Given the description of an element on the screen output the (x, y) to click on. 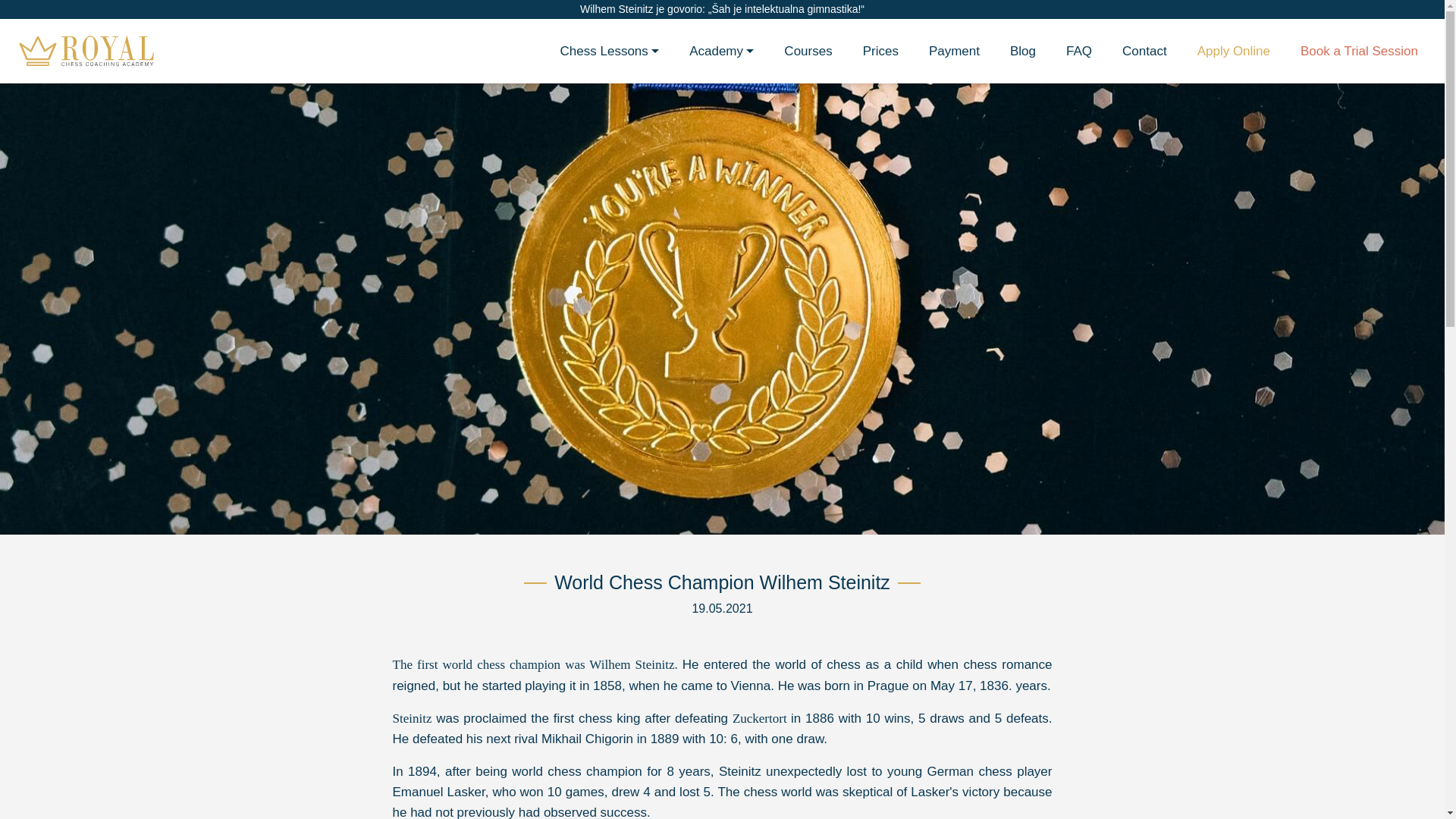
Academy (721, 50)
Payment (954, 50)
Apply Online (1233, 50)
Prices (880, 50)
Contact (1144, 50)
Courses (807, 50)
Book a Trial Session (1358, 50)
Chess Lessons (609, 50)
